Given the description of an element on the screen output the (x, y) to click on. 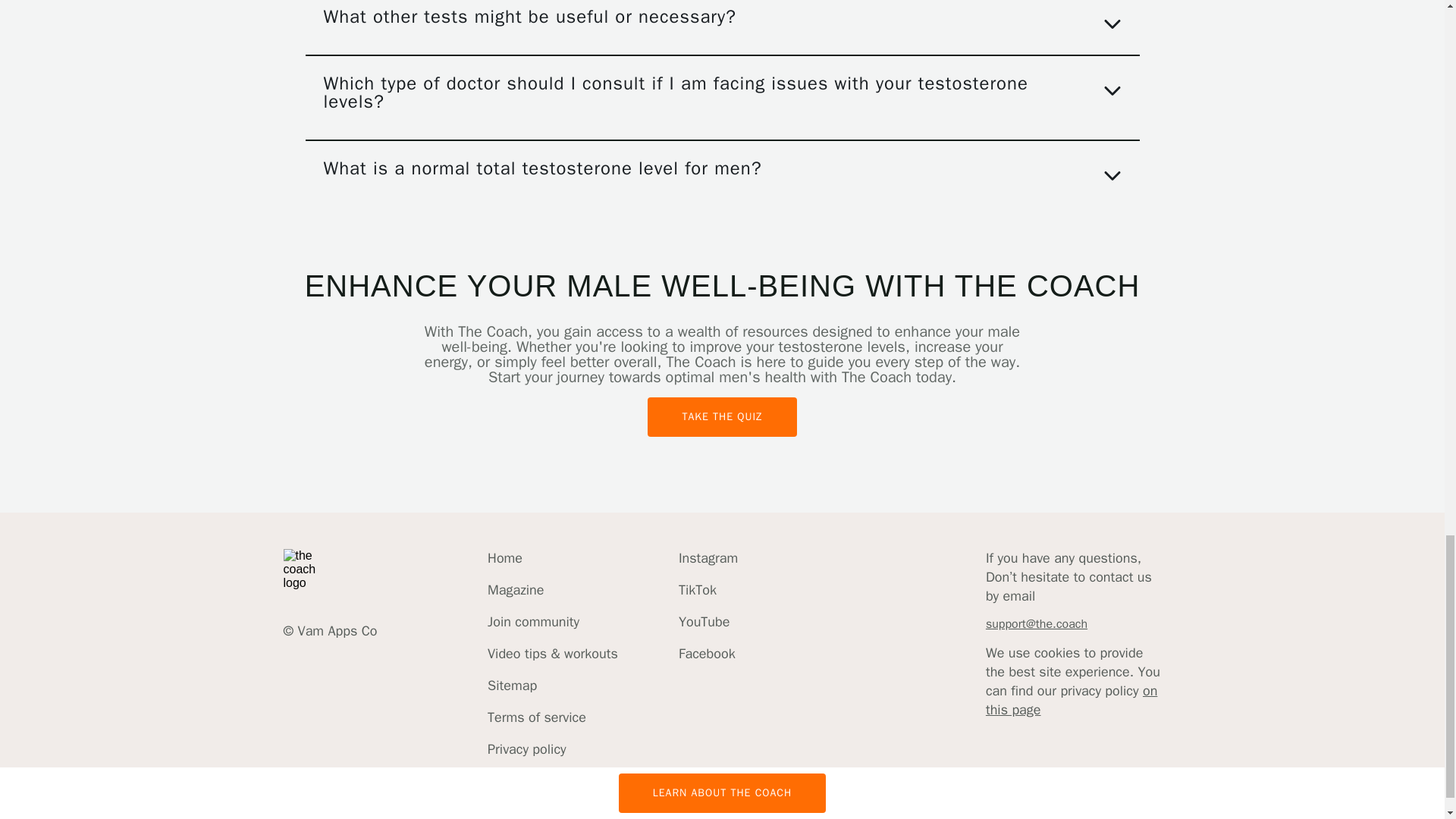
Join community (552, 621)
Instagram (708, 558)
Facebook (708, 653)
YouTube (708, 621)
Privacy policy (552, 749)
on this page (1071, 700)
TikTok (708, 589)
Sitemap (552, 685)
TAKE THE QUIZ (721, 416)
Terms of service (552, 717)
